Given the description of an element on the screen output the (x, y) to click on. 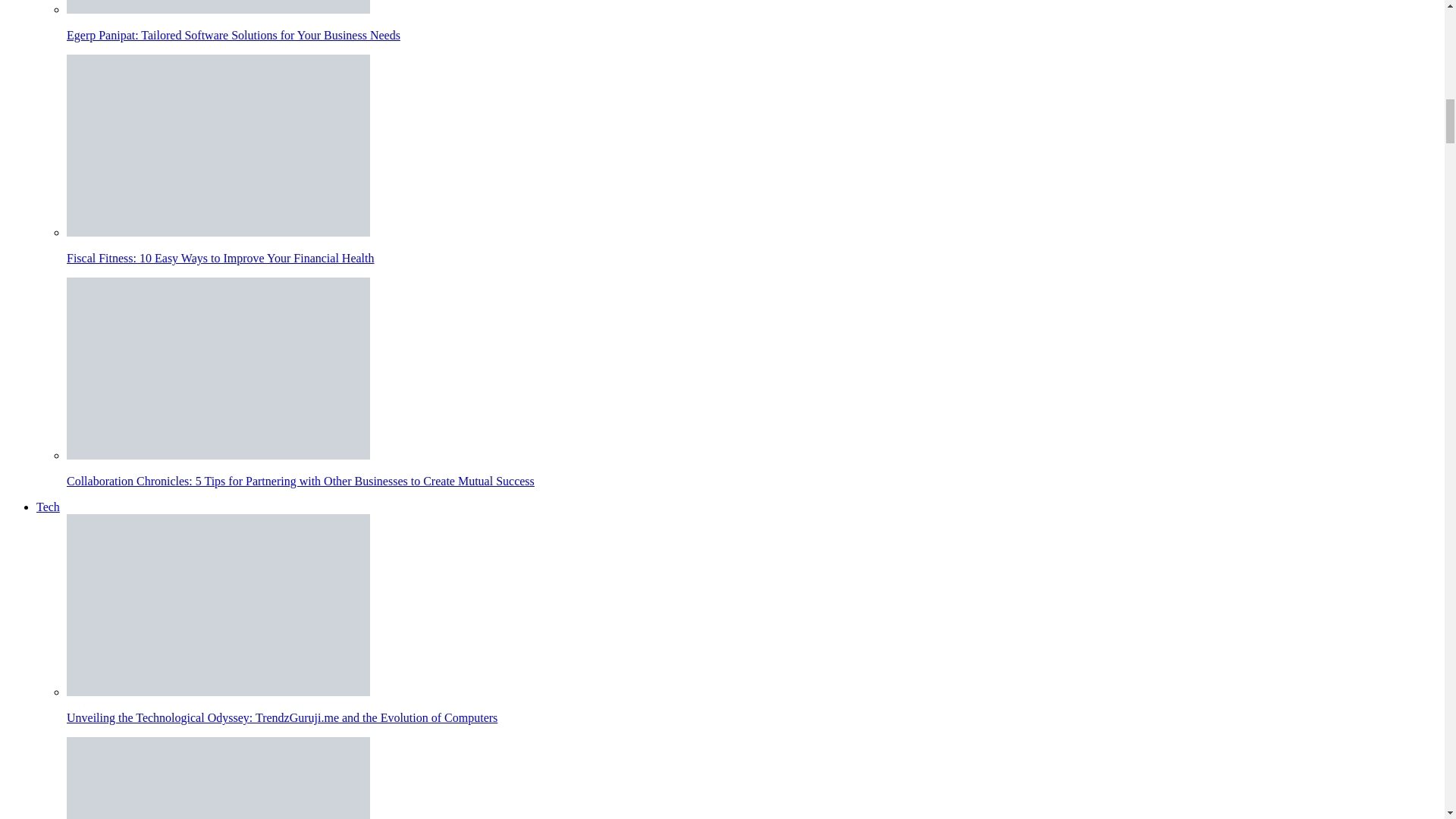
Tech (47, 506)
